Given the description of an element on the screen output the (x, y) to click on. 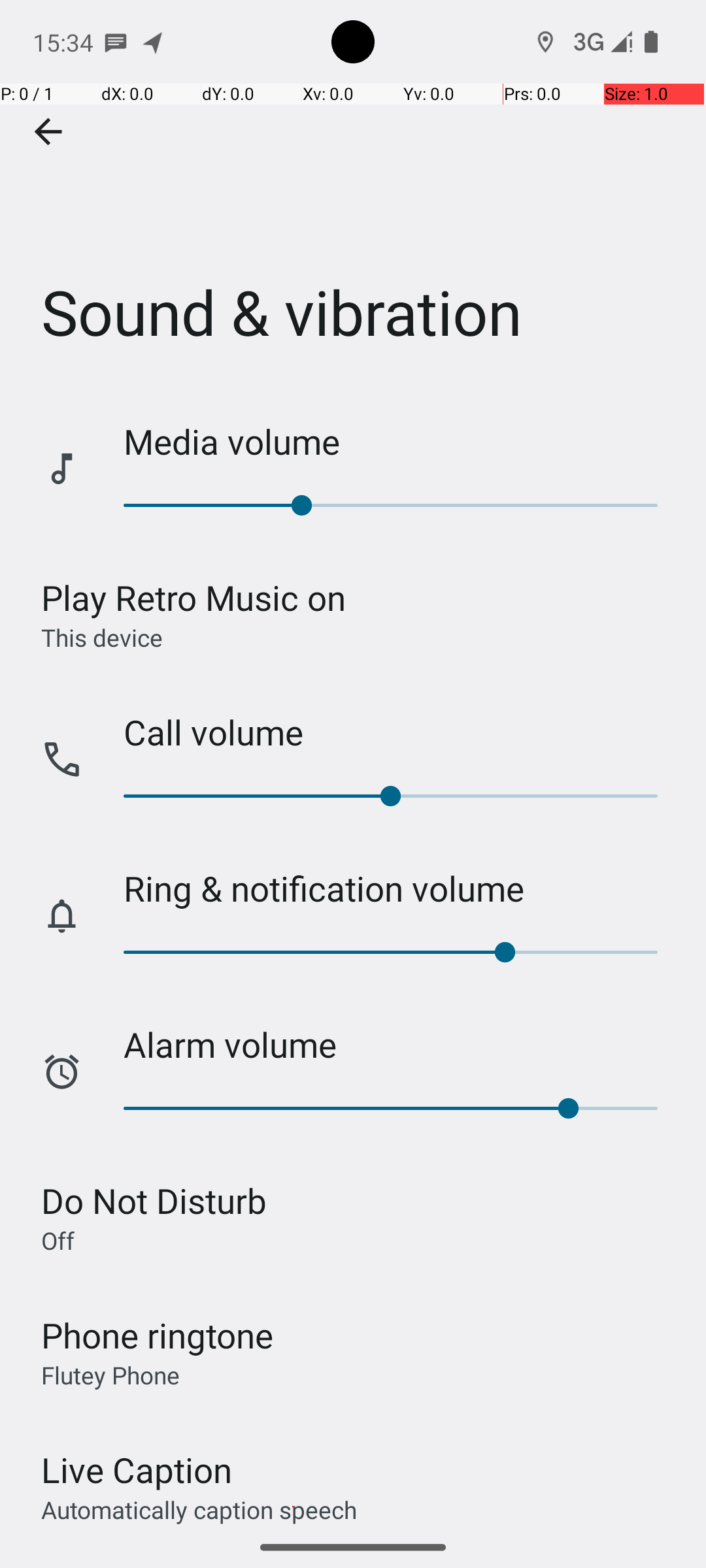
Media volume Element type: android.widget.TextView (400, 441)
Play Retro Music on Element type: android.widget.TextView (193, 597)
This device Element type: android.widget.TextView (101, 636)
Call volume Element type: android.widget.TextView (400, 731)
Ring & notification volume Element type: android.widget.TextView (400, 888)
Alarm volume Element type: android.widget.TextView (400, 1044)
Do Not Disturb Element type: android.widget.TextView (153, 1200)
Phone ringtone Element type: android.widget.TextView (157, 1334)
Flutey Phone Element type: android.widget.TextView (110, 1374)
Live Caption Element type: android.widget.TextView (136, 1469)
Automatically caption speech Element type: android.widget.TextView (199, 1509)
